Given the description of an element on the screen output the (x, y) to click on. 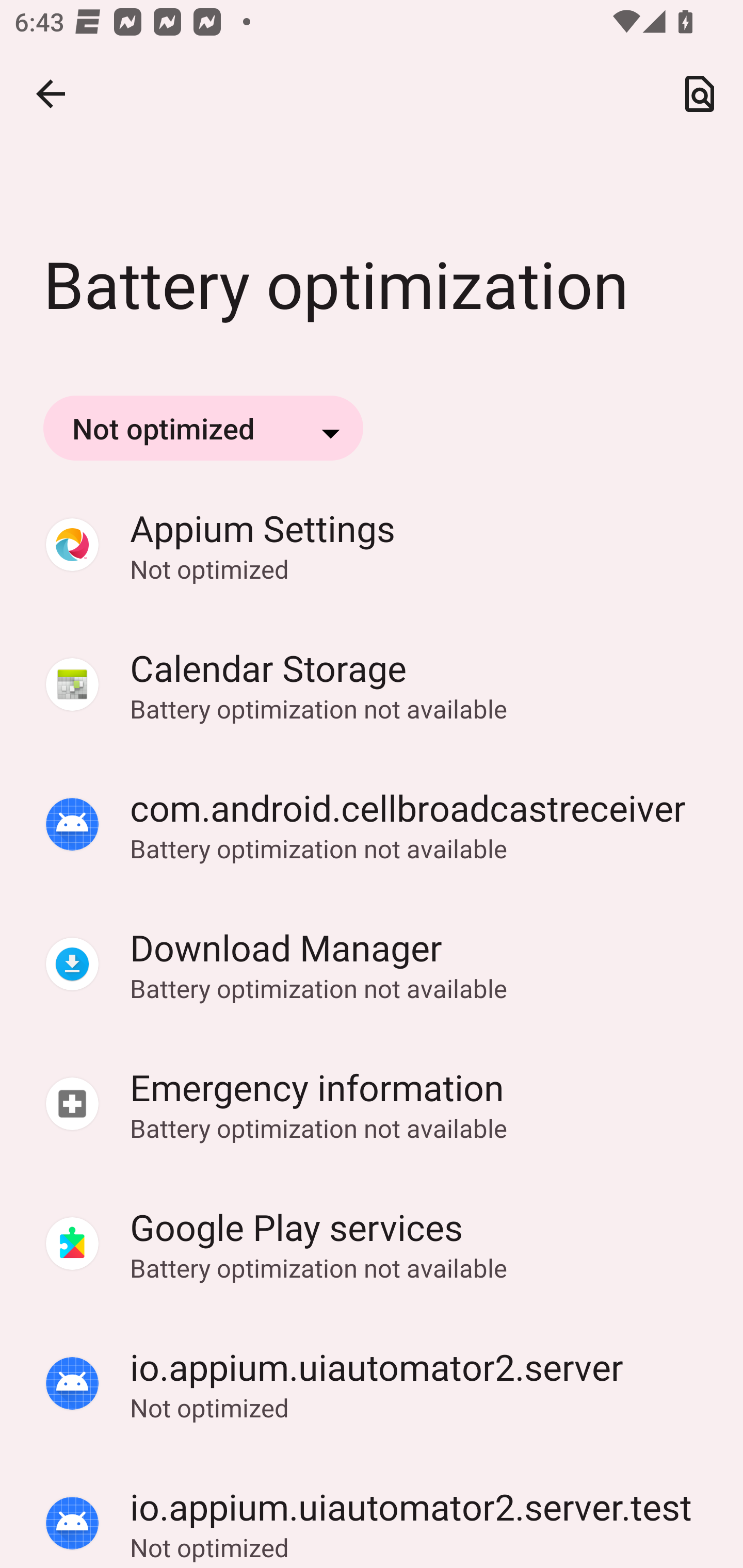
Navigate up (50, 93)
Search (699, 93)
Not optimized (203, 428)
Appium Settings Appium Settings Not optimized (371, 544)
